Given the description of an element on the screen output the (x, y) to click on. 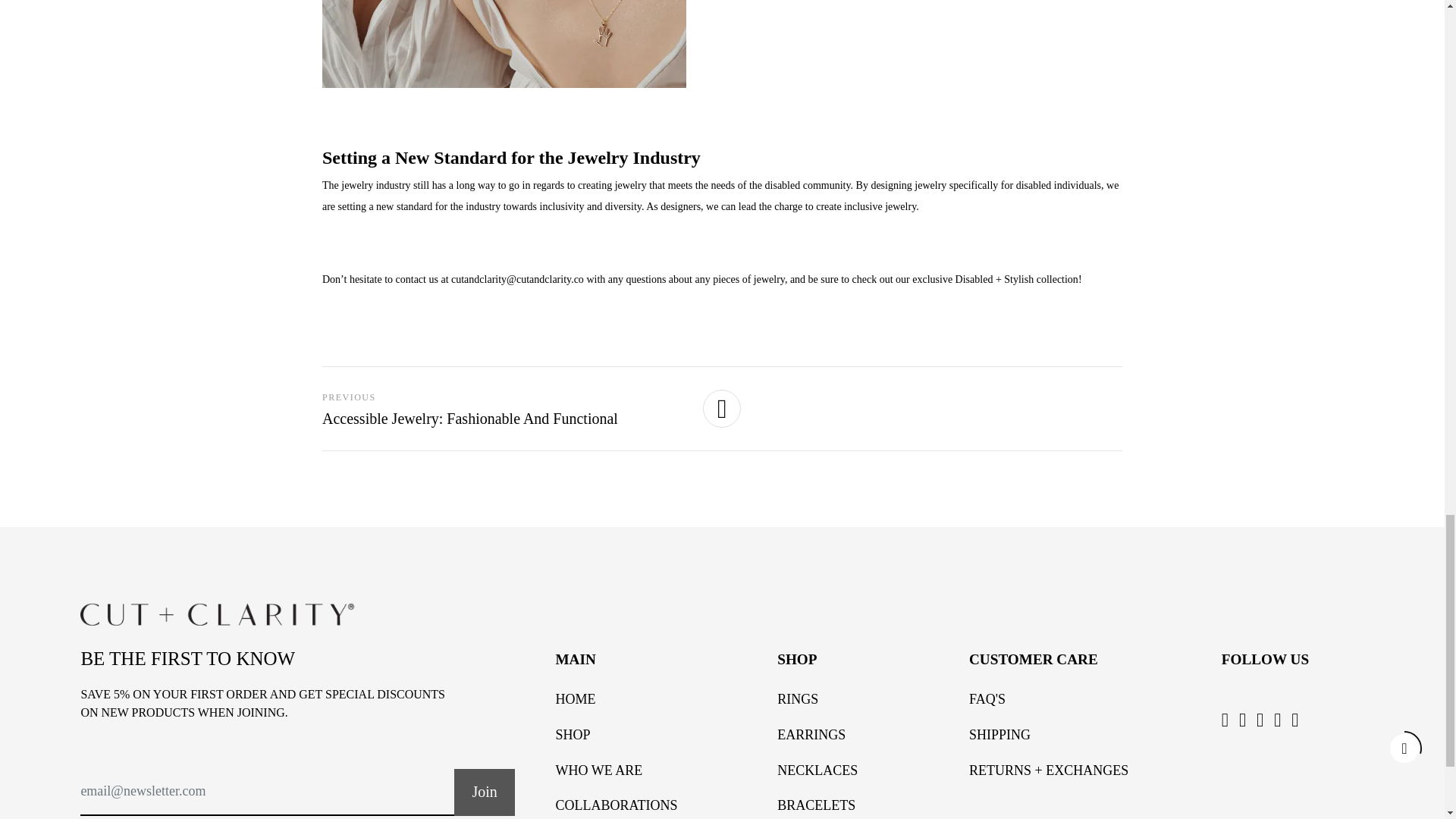
Bracelets (816, 805)
Necklaces (817, 770)
SHIPPING (999, 734)
Earrings (811, 734)
FAQ'S (987, 698)
Shop (571, 734)
Home (574, 698)
Collaborations (615, 805)
Who We Are (598, 770)
Rings (797, 698)
